Given the description of an element on the screen output the (x, y) to click on. 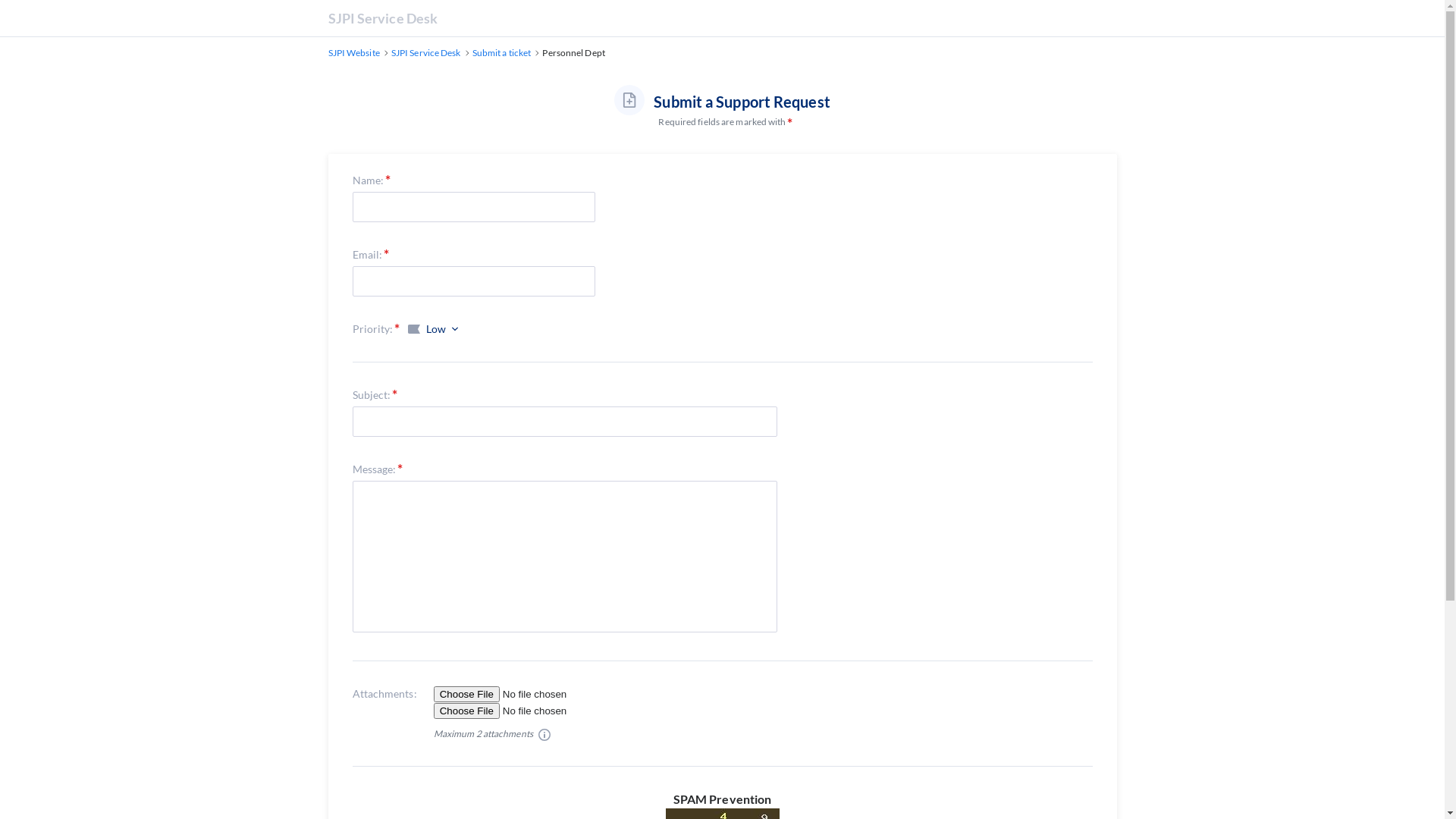
SJPI Service Desk Element type: text (382, 17)
SJPI Website Element type: text (353, 52)
Submit a ticket Element type: text (501, 52)
SJPI Service Desk Element type: text (426, 52)
